Given the description of an element on the screen output the (x, y) to click on. 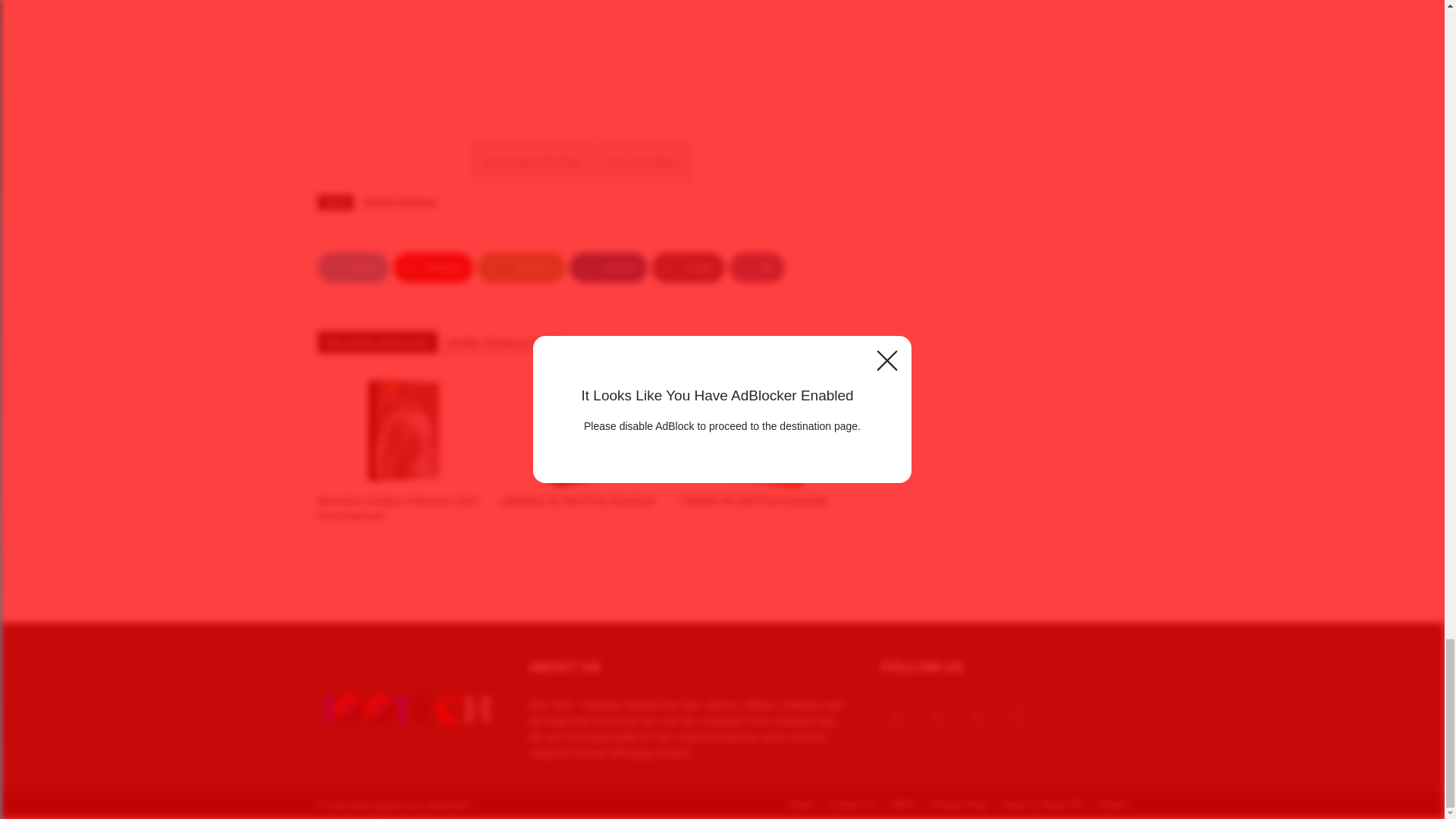
Pinterest (433, 267)
Twitter (352, 267)
